Given the description of an element on the screen output the (x, y) to click on. 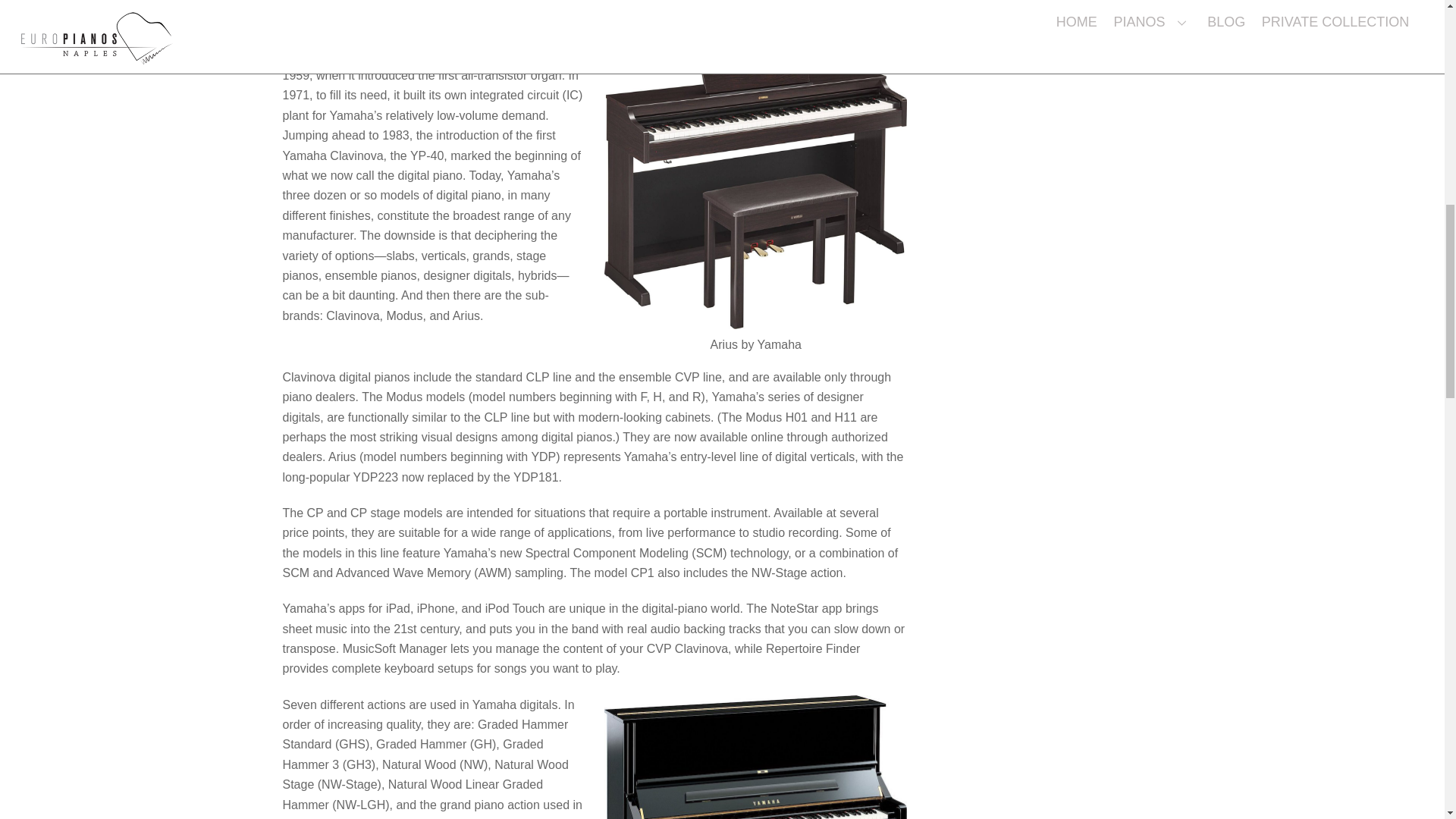
Yamaha Pianos (755, 757)
